Given the description of an element on the screen output the (x, y) to click on. 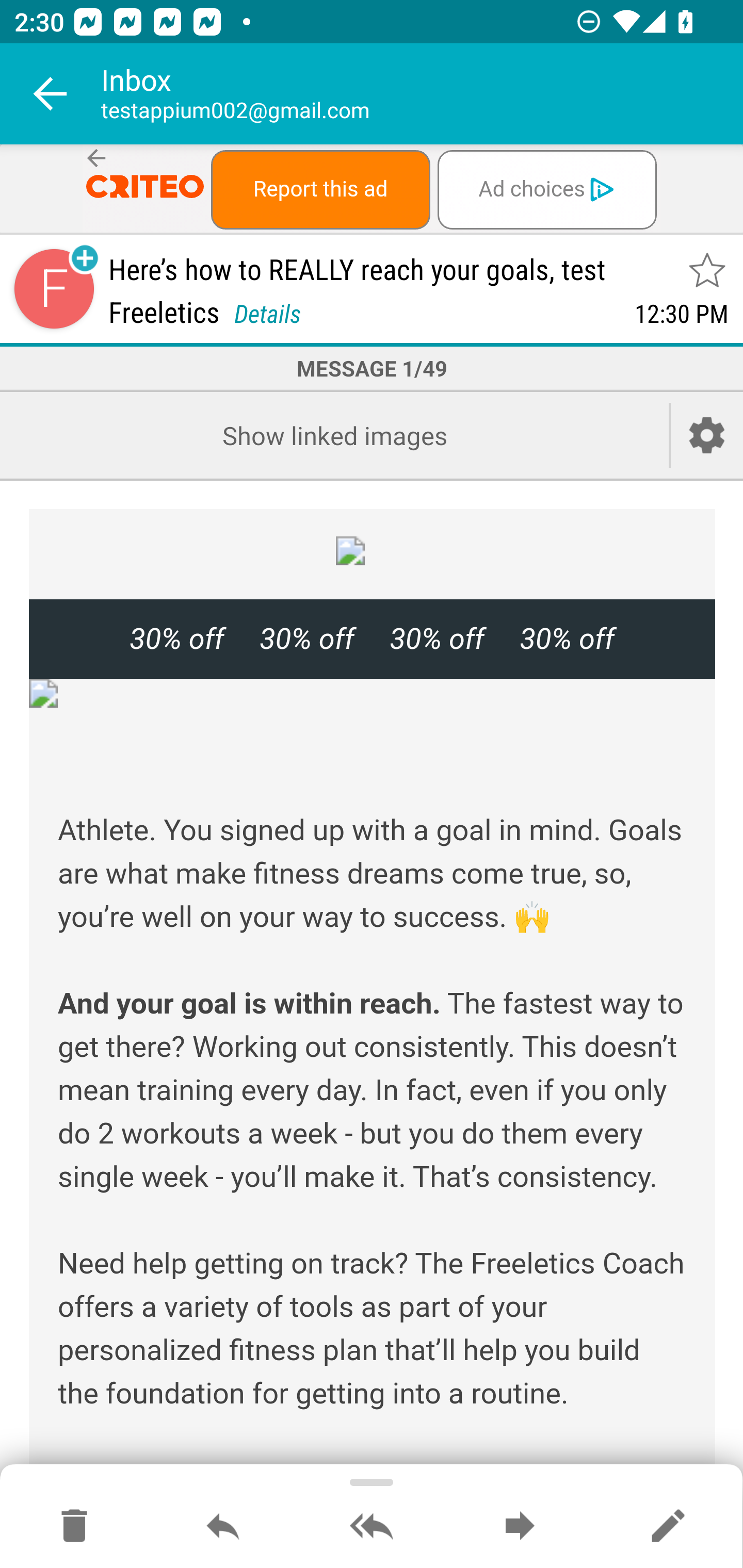
Navigate up (50, 93)
Inbox testappium002@gmail.com (422, 93)
back_button2 (96, 159)
Report this ad (319, 188)
Ad choices Ad choices privacy (546, 188)
Sender contact button (53, 289)
Show linked images (334, 435)
Account setup (706, 435)
data: (372, 550)
30% off     30% off     30% off     30% off (371, 638)
data: (372, 692)
Move to Deleted (74, 1527)
Reply (222, 1527)
Reply all (371, 1527)
Forward (519, 1527)
Reply as new (667, 1527)
